Given the description of an element on the screen output the (x, y) to click on. 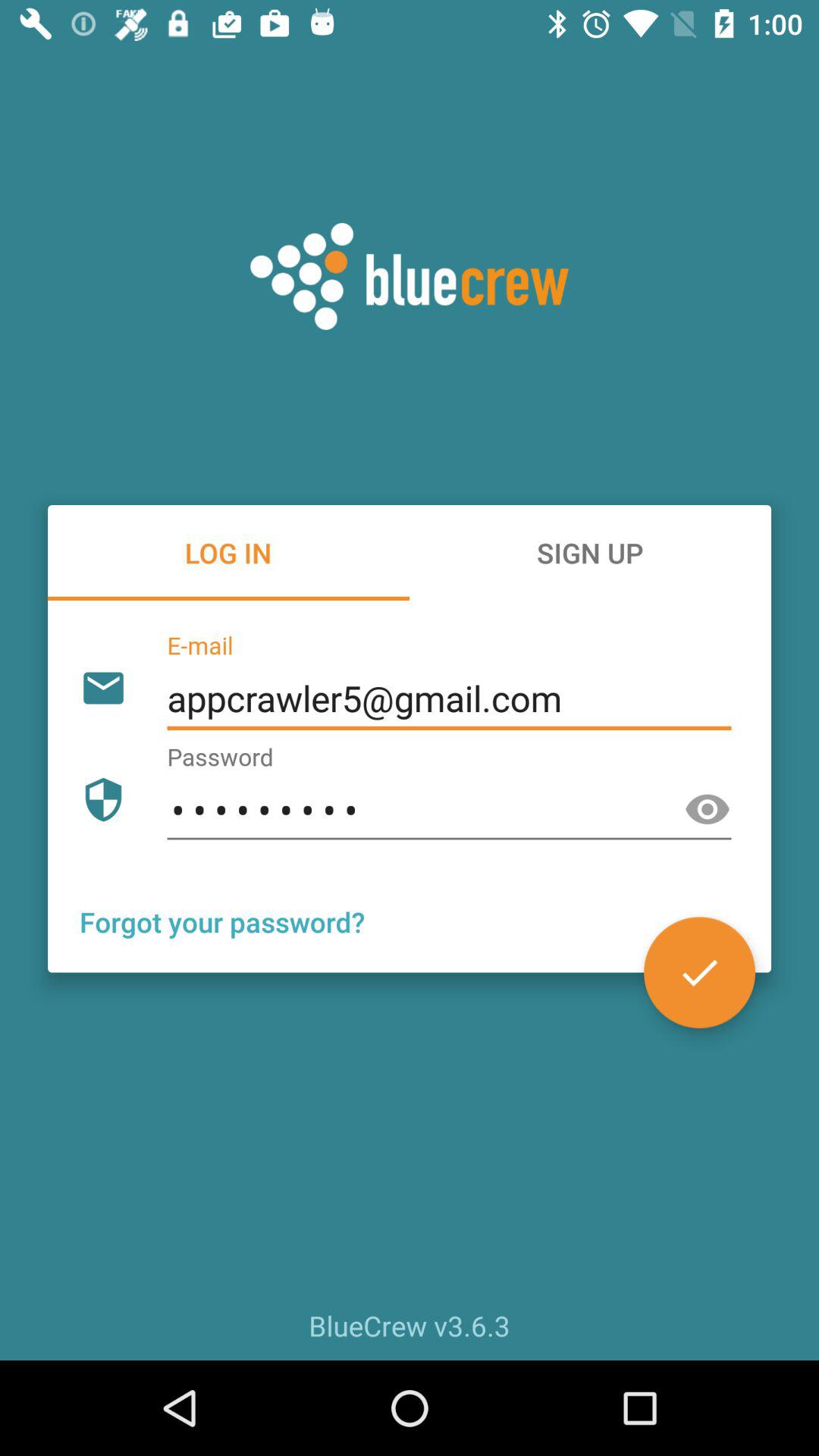
enter information (699, 972)
